Given the description of an element on the screen output the (x, y) to click on. 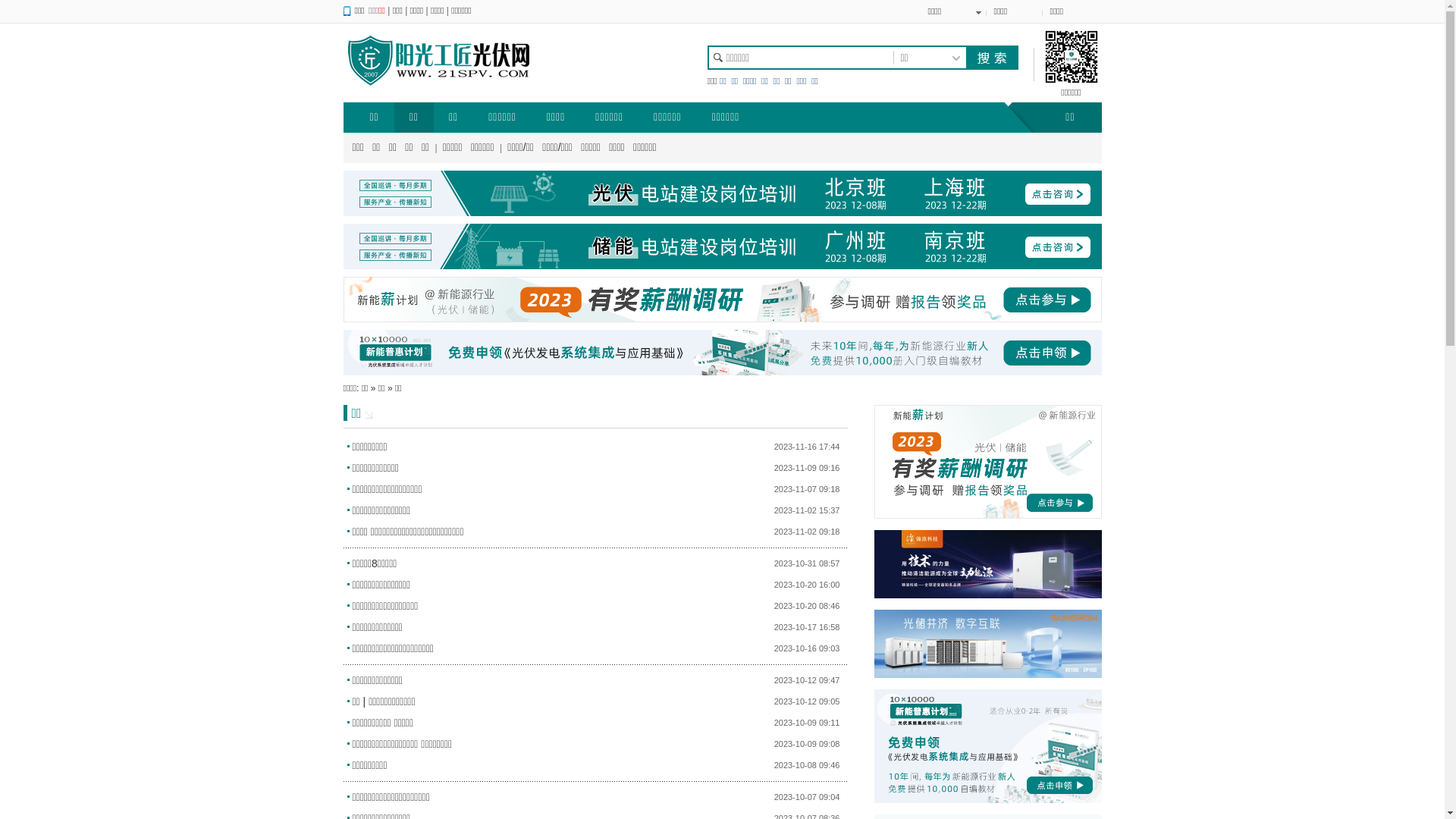
  Element type: text (990, 57)
